Given the description of an element on the screen output the (x, y) to click on. 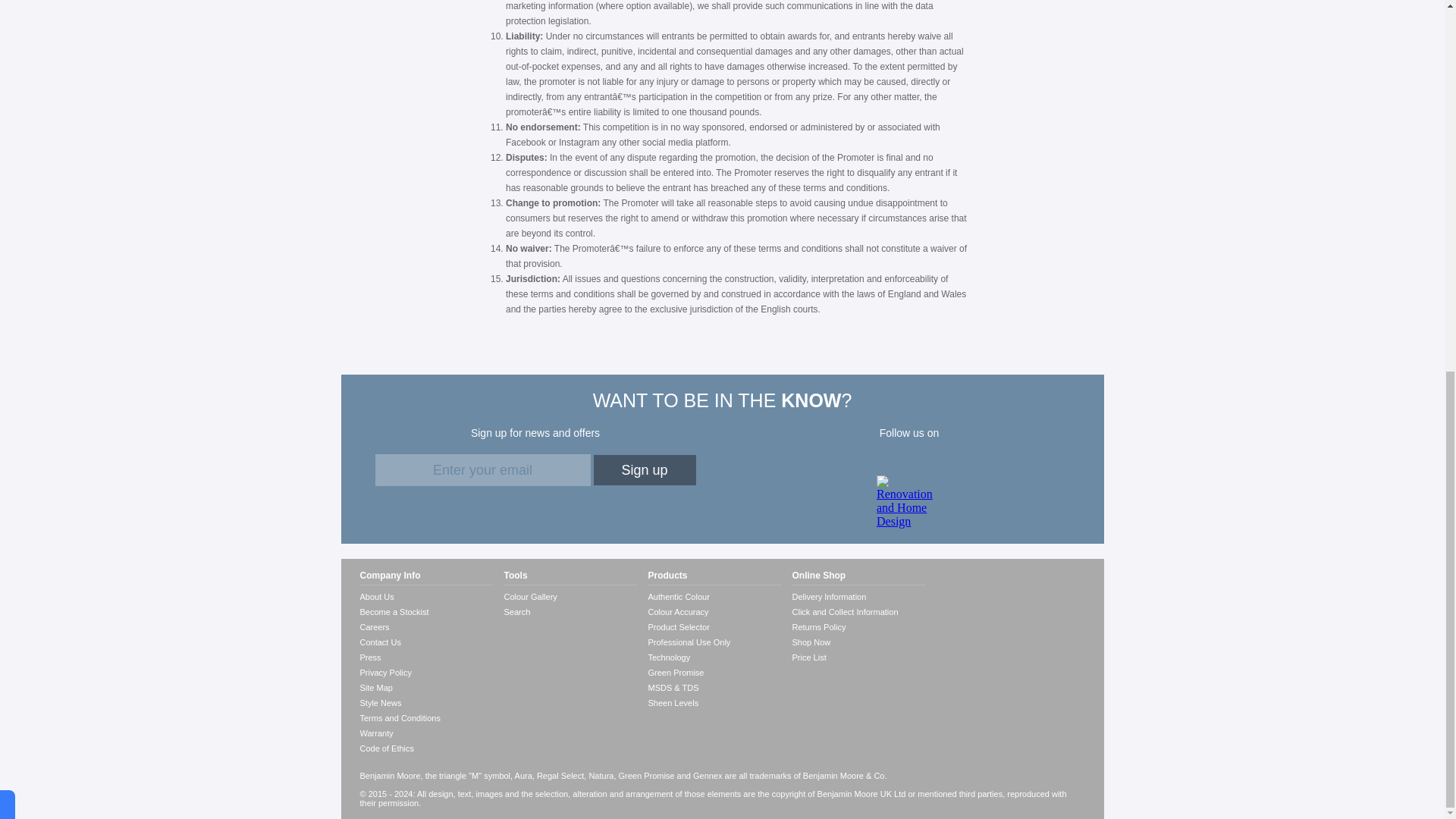
Sign up (643, 470)
Colour Gallery (569, 596)
Privacy Policy (425, 672)
Contact Us (425, 642)
About Us (425, 596)
Press (425, 657)
Site Map (425, 687)
Code of Ethics (425, 748)
Search (569, 611)
Careers (425, 626)
Authentic Colour (713, 596)
Terms and Conditions (425, 717)
Warranty (425, 733)
Enter your email (481, 470)
Become a Stockist (425, 611)
